Given the description of an element on the screen output the (x, y) to click on. 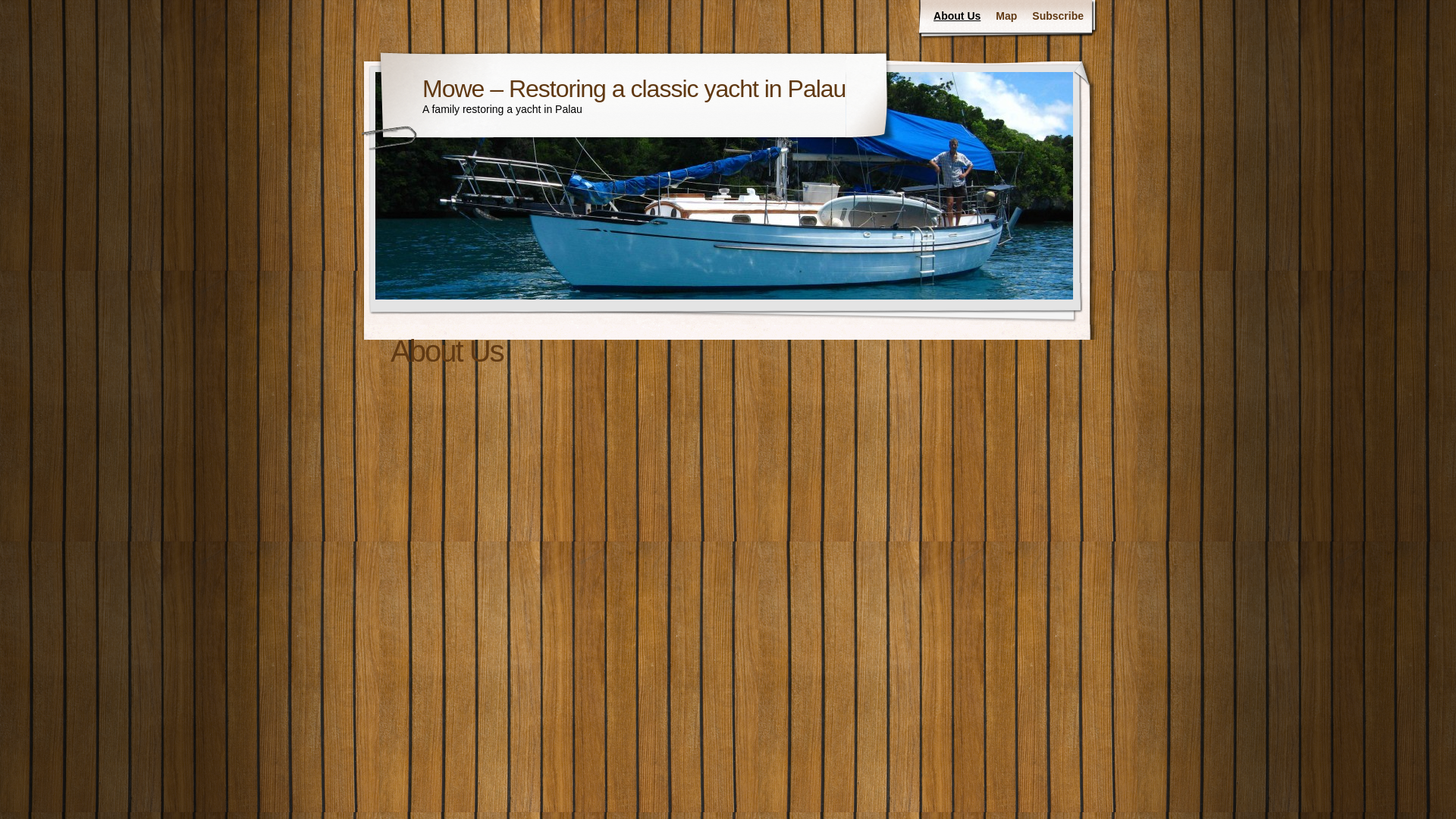
Subscribe (1057, 16)
Map (1006, 16)
About Us (957, 16)
